Given the description of an element on the screen output the (x, y) to click on. 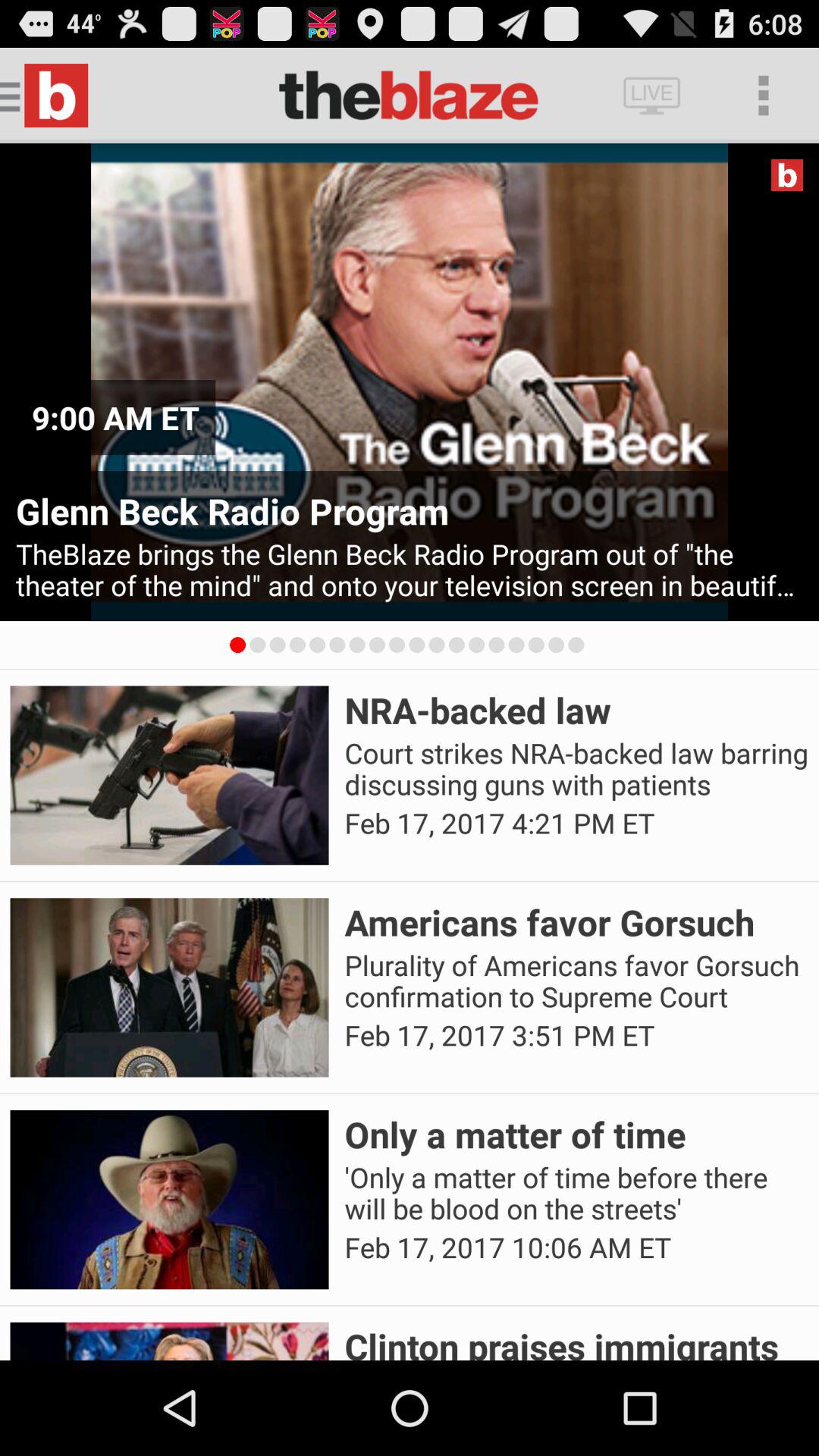
turn off item above the glenn beck radio item (115, 417)
